Given the description of an element on the screen output the (x, y) to click on. 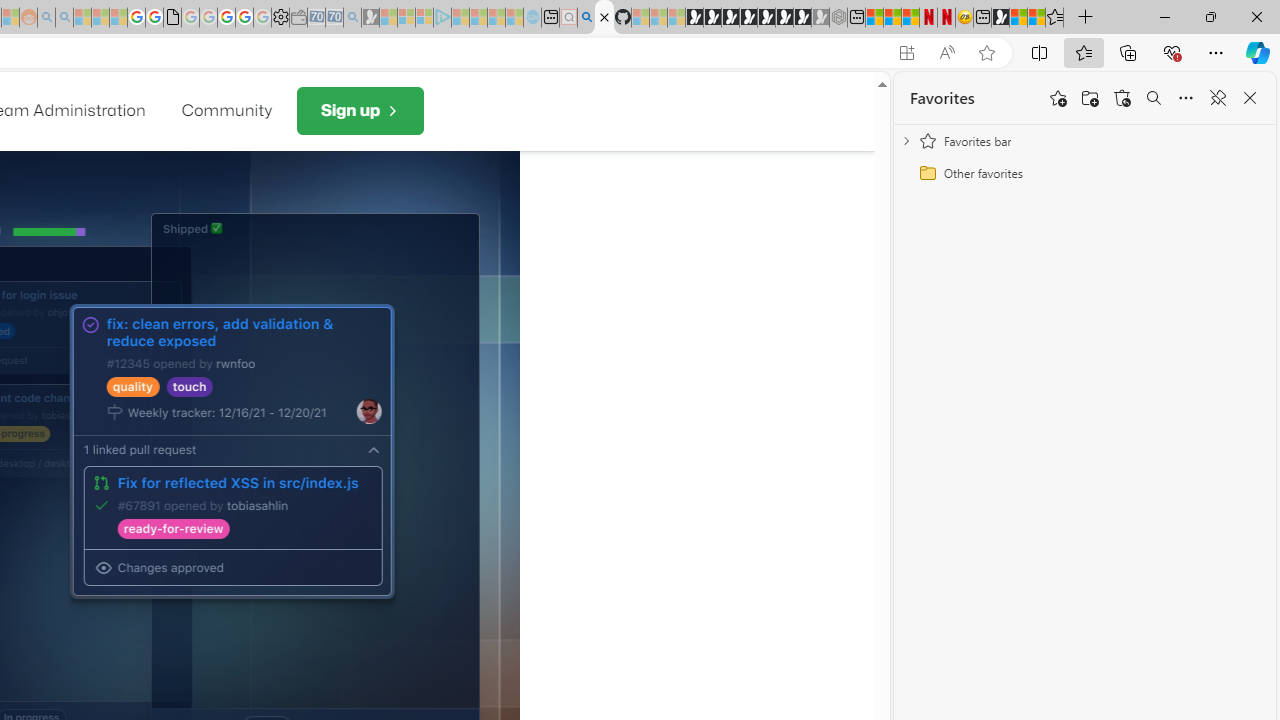
Restore (1210, 16)
Browser essentials (1171, 52)
Microsoft Start Gaming - Sleeping (370, 17)
Utah sues federal government - Search - Sleeping (64, 17)
Add this page to favorites (Ctrl+D) (986, 53)
Favorites (1054, 17)
Close favorites (1250, 98)
Home | Sky Blue Bikes - Sky Blue Bikes - Sleeping (532, 17)
Bing Real Estate - Home sales and rental listings - Sleeping (352, 17)
Close (1256, 16)
App available. Install GitHub (906, 53)
Restore deleted favorites (1122, 98)
Settings and more (Alt+F) (1215, 52)
